Given the description of an element on the screen output the (x, y) to click on. 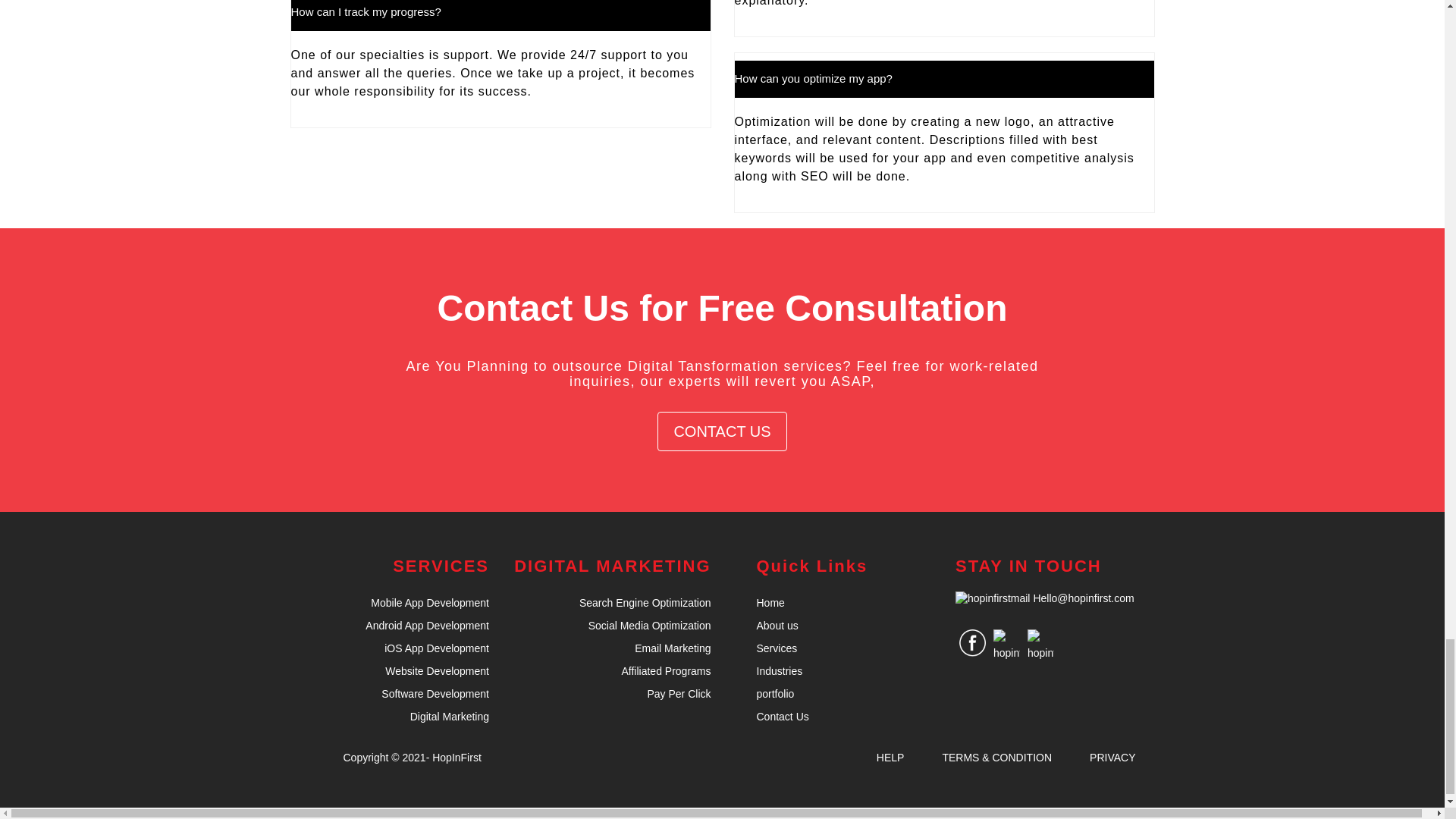
How can I track my progress? (500, 18)
